Given the description of an element on the screen output the (x, y) to click on. 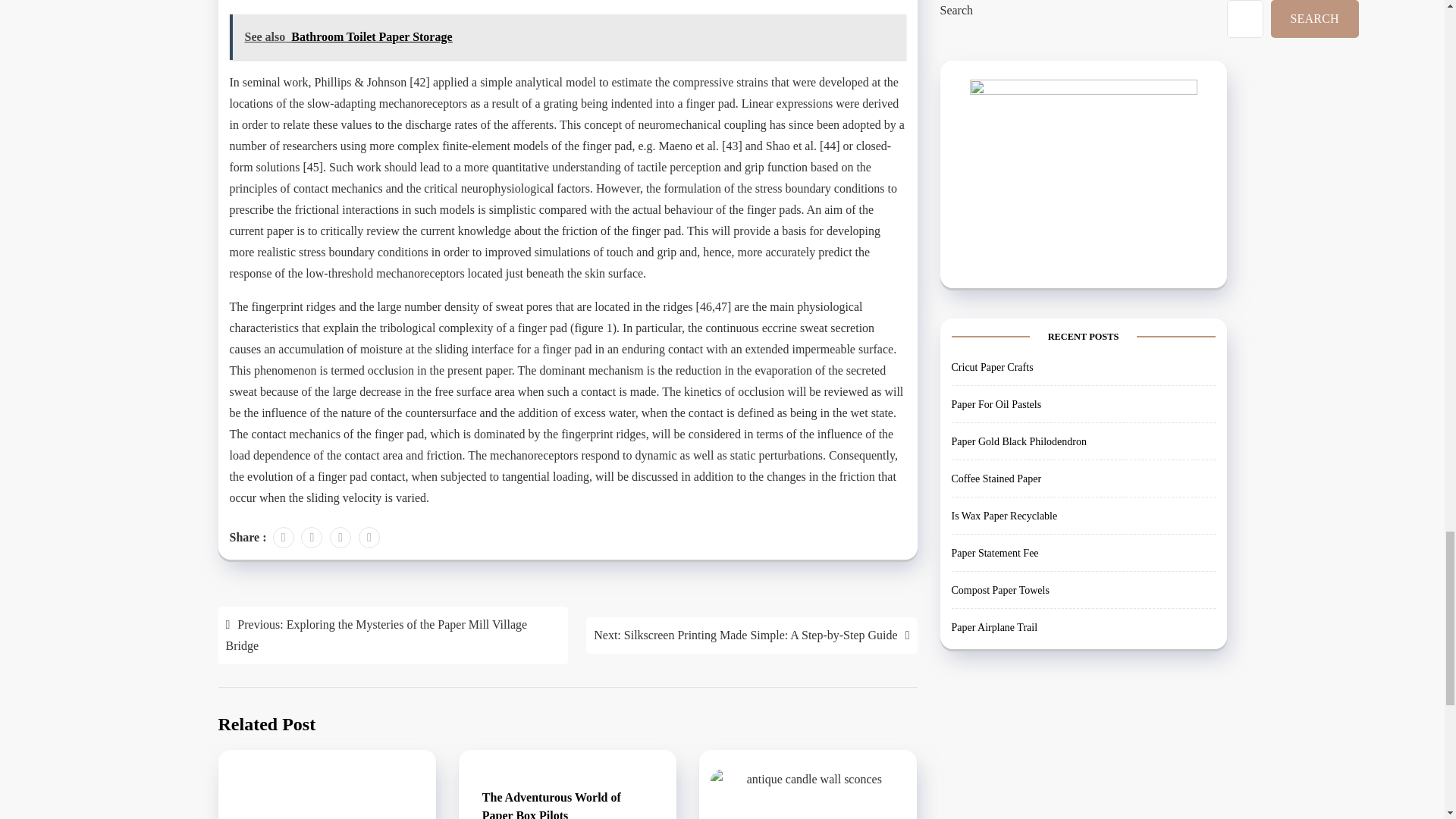
The Adventurous World of Paper Box Pilots (566, 805)
See also  Bathroom Toilet Paper Storage (566, 36)
Next: Silkscreen Printing Made Simple: A Step-by-Step Guide (751, 635)
